Given the description of an element on the screen output the (x, y) to click on. 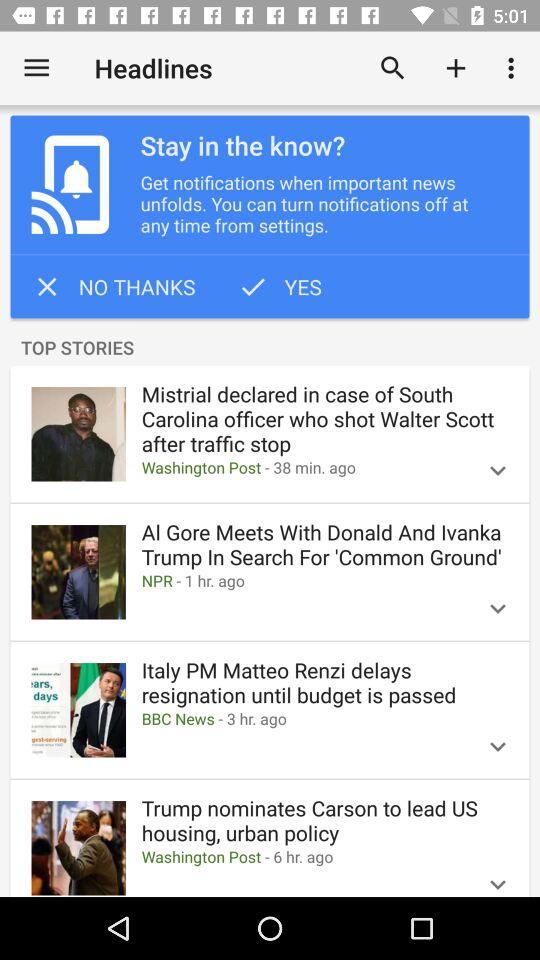
press the item below the no thanks icon (270, 348)
